Given the description of an element on the screen output the (x, y) to click on. 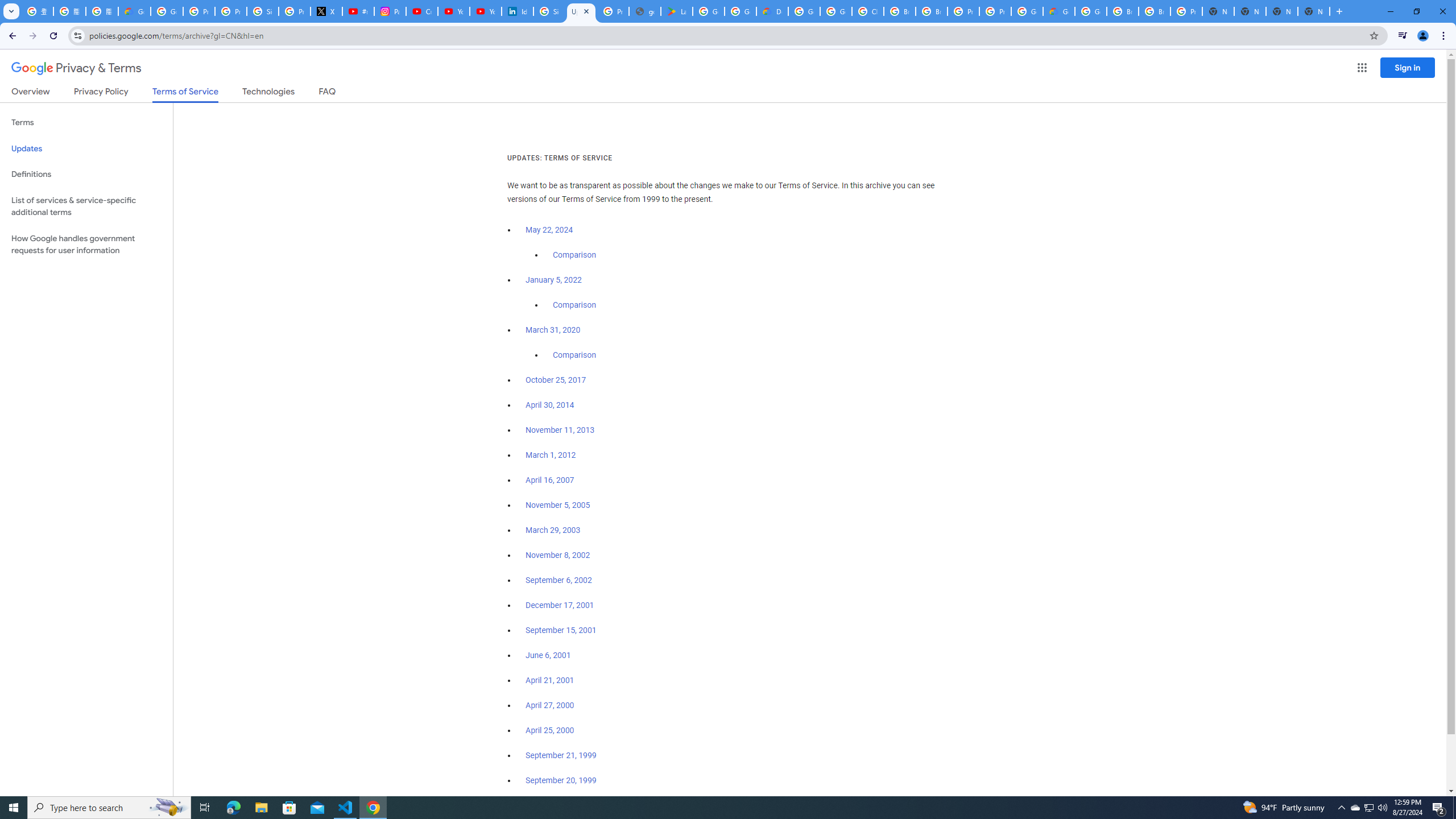
New Tab (1217, 11)
